Given the description of an element on the screen output the (x, y) to click on. 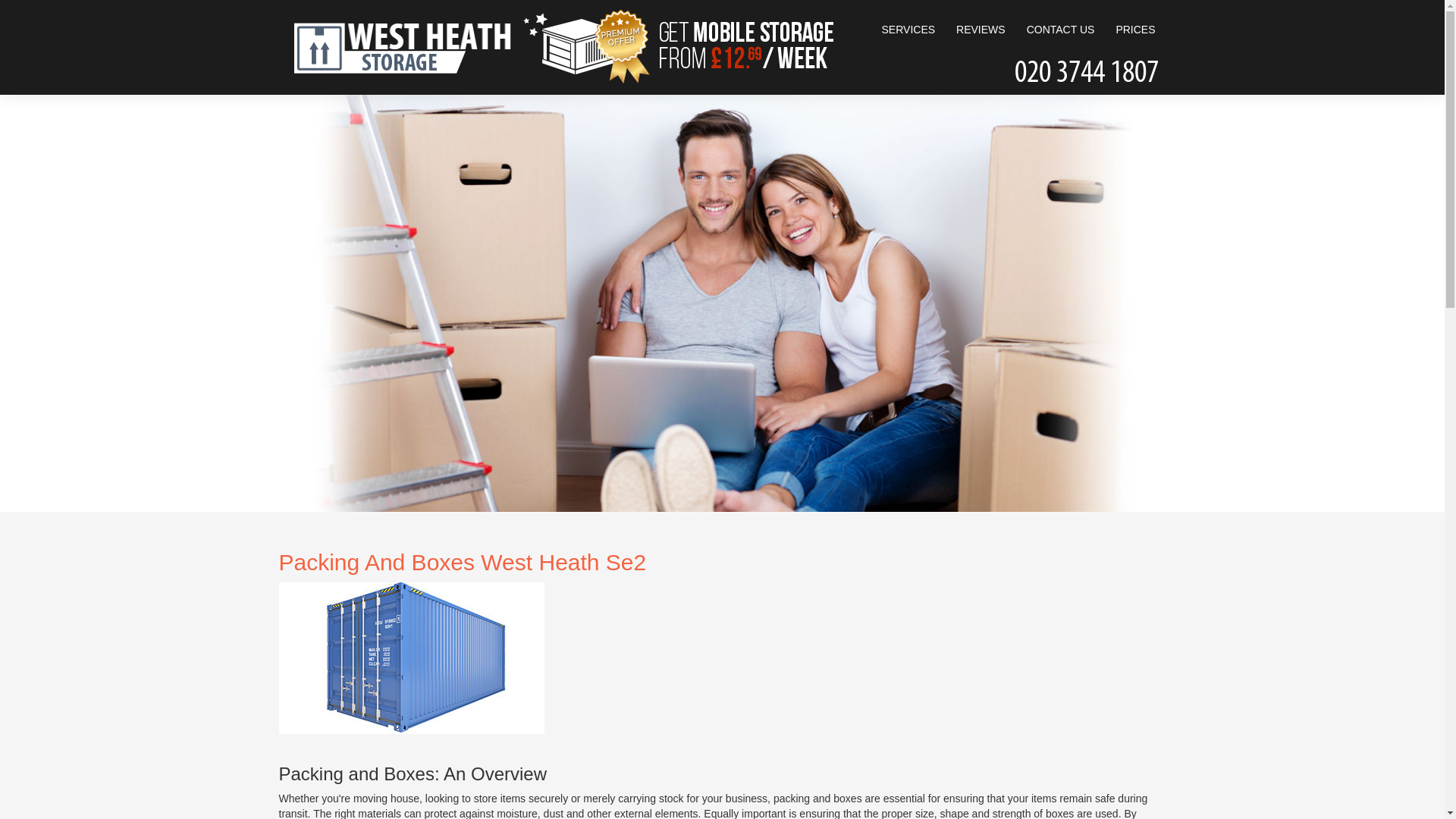
PRICES (1134, 30)
CONTACT US (1060, 30)
PRICES (1134, 30)
CONTACT US (1060, 30)
REVIEWS (981, 30)
Call Now! (1086, 67)
REVIEWS (981, 30)
SERVICES (909, 30)
